Given the description of an element on the screen output the (x, y) to click on. 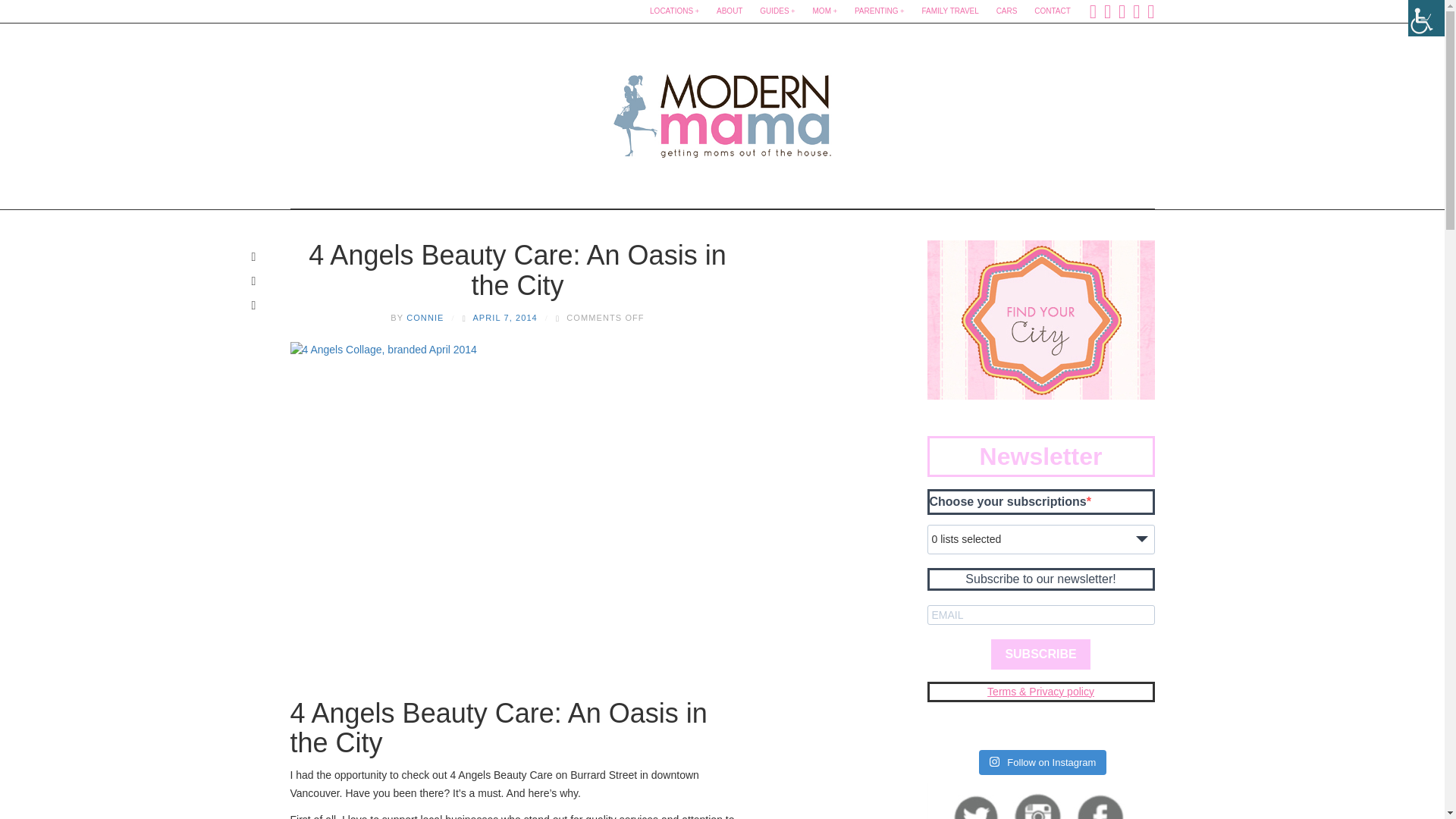
GUIDES (777, 11)
MOM (825, 11)
CONTACT (1052, 11)
CONNIE (425, 317)
10:27 am (504, 317)
APRIL 7, 2014 (504, 317)
FAMILY TRAVEL (949, 11)
LOCATIONS (674, 11)
ABOUT (729, 11)
Modern Mama (722, 111)
